Given the description of an element on the screen output the (x, y) to click on. 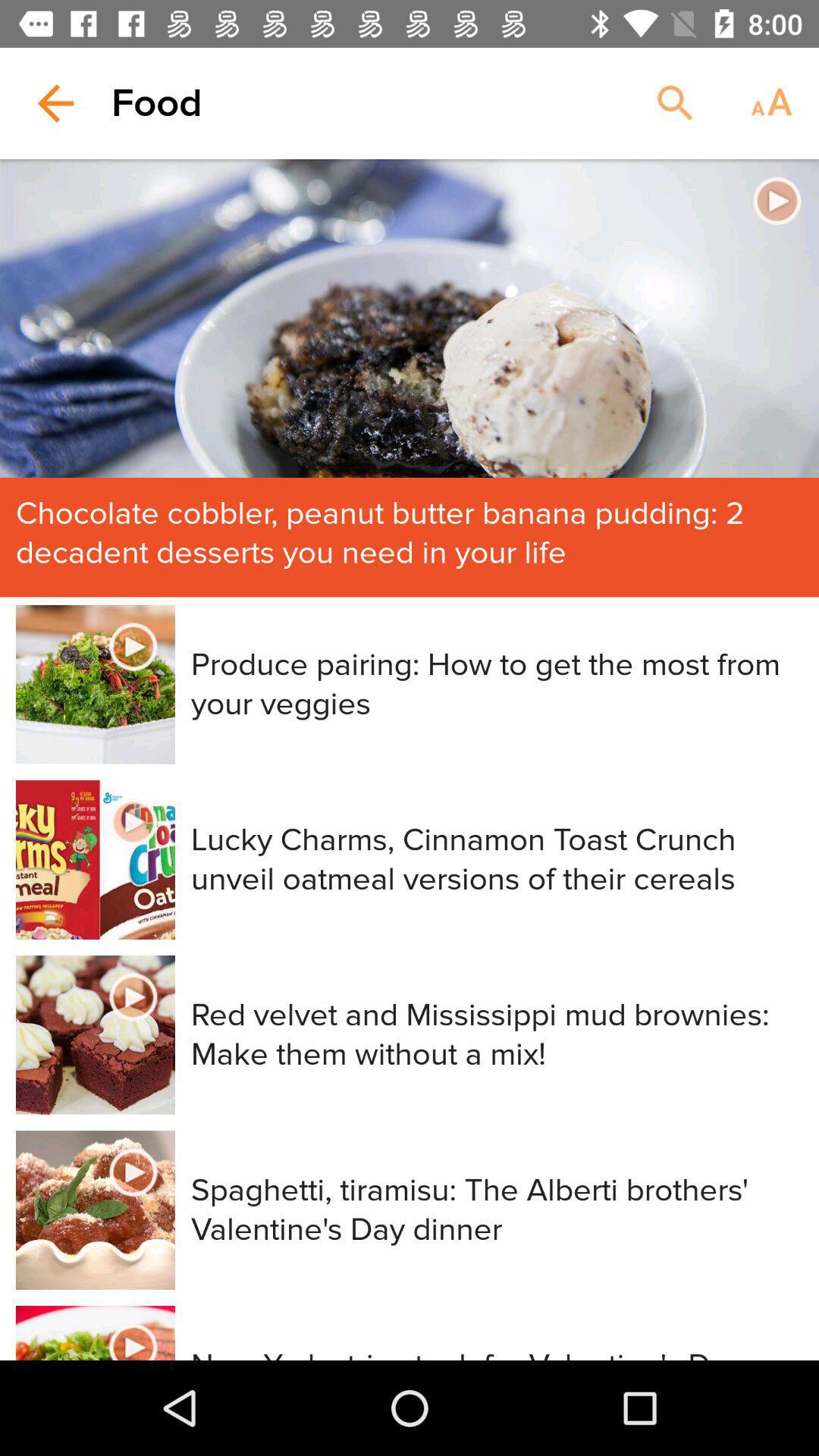
choose icon next to food icon (55, 103)
